Given the description of an element on the screen output the (x, y) to click on. 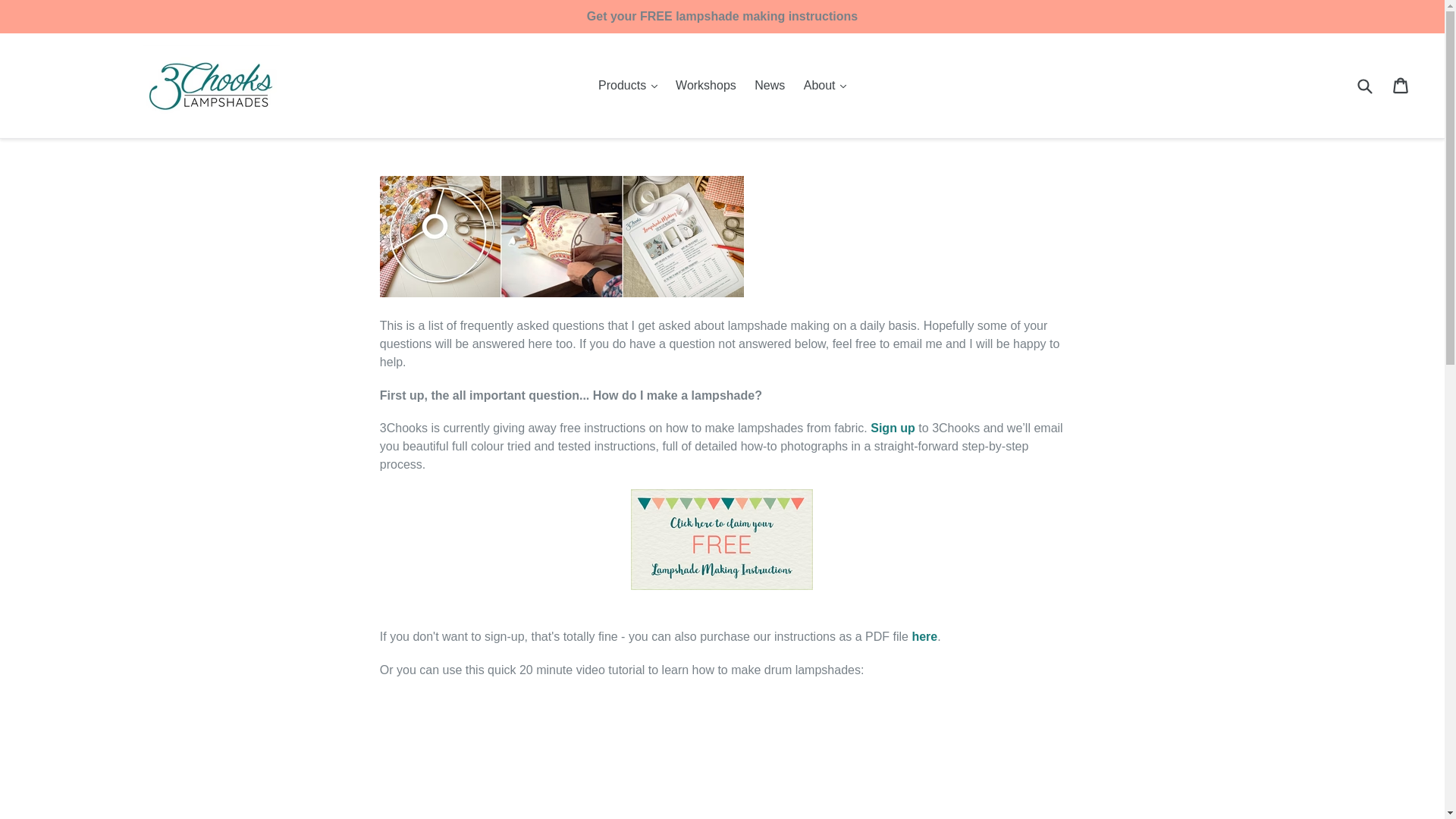
Workshops (706, 85)
Lampshade Making Instructions for purchase (924, 635)
Free lampshade making instructions - sign up (721, 585)
News (769, 85)
Claim your free lampshade making instructions (892, 427)
